Given the description of an element on the screen output the (x, y) to click on. 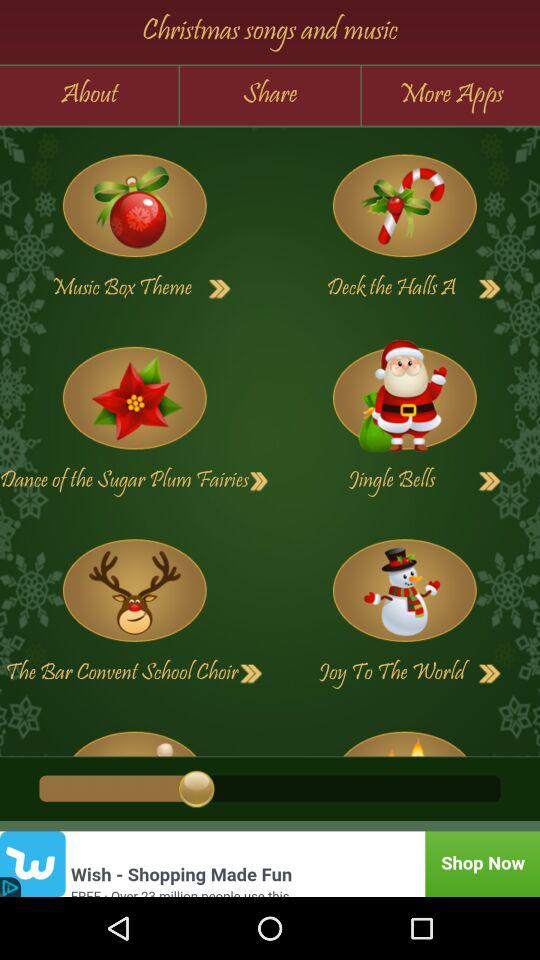
go next (490, 673)
